Given the description of an element on the screen output the (x, y) to click on. 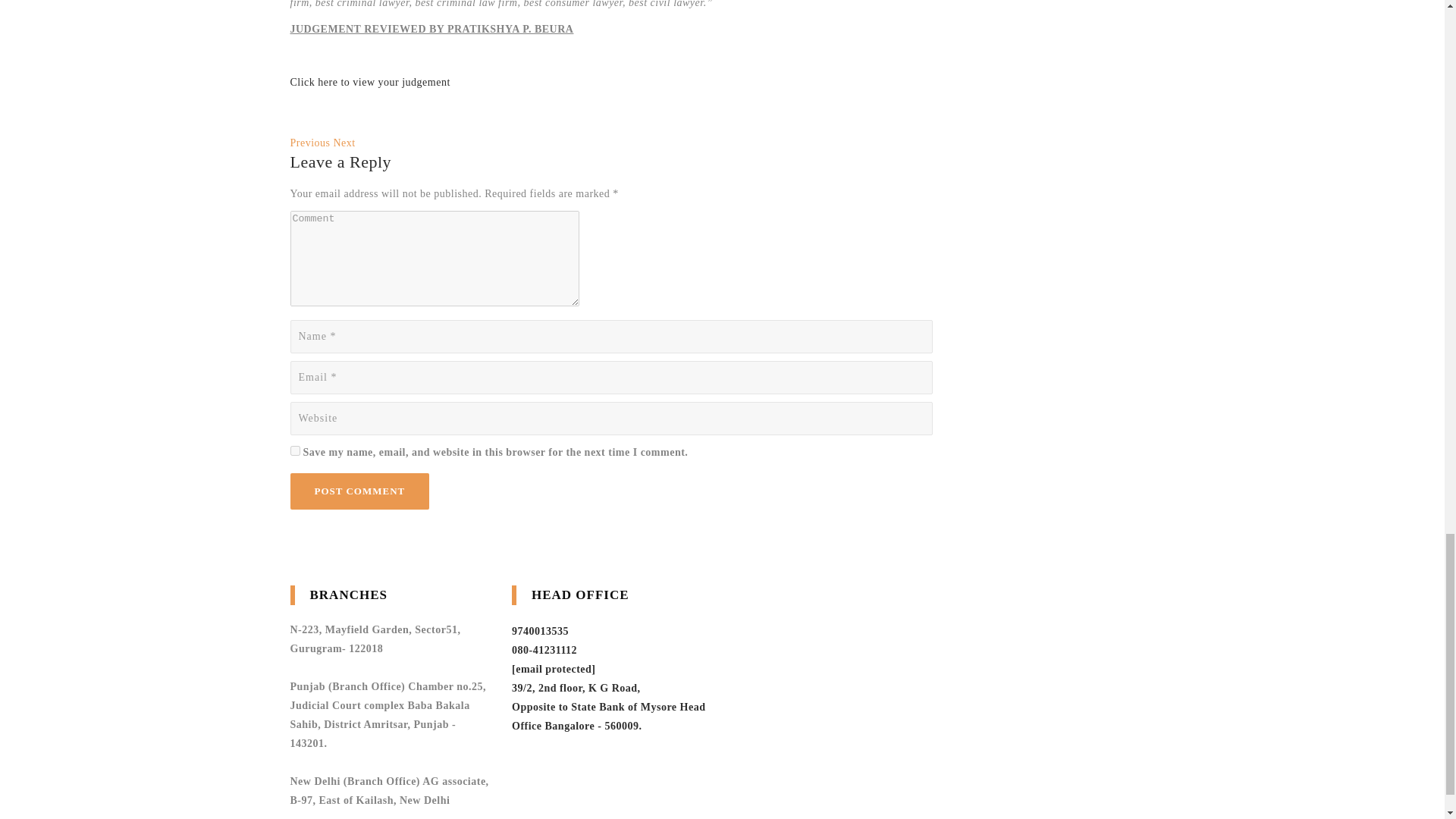
Click here to view your judgement (369, 81)
Post Comment (359, 491)
yes (294, 450)
Previous (309, 142)
Next (344, 142)
Post Comment (359, 491)
